Given the description of an element on the screen output the (x, y) to click on. 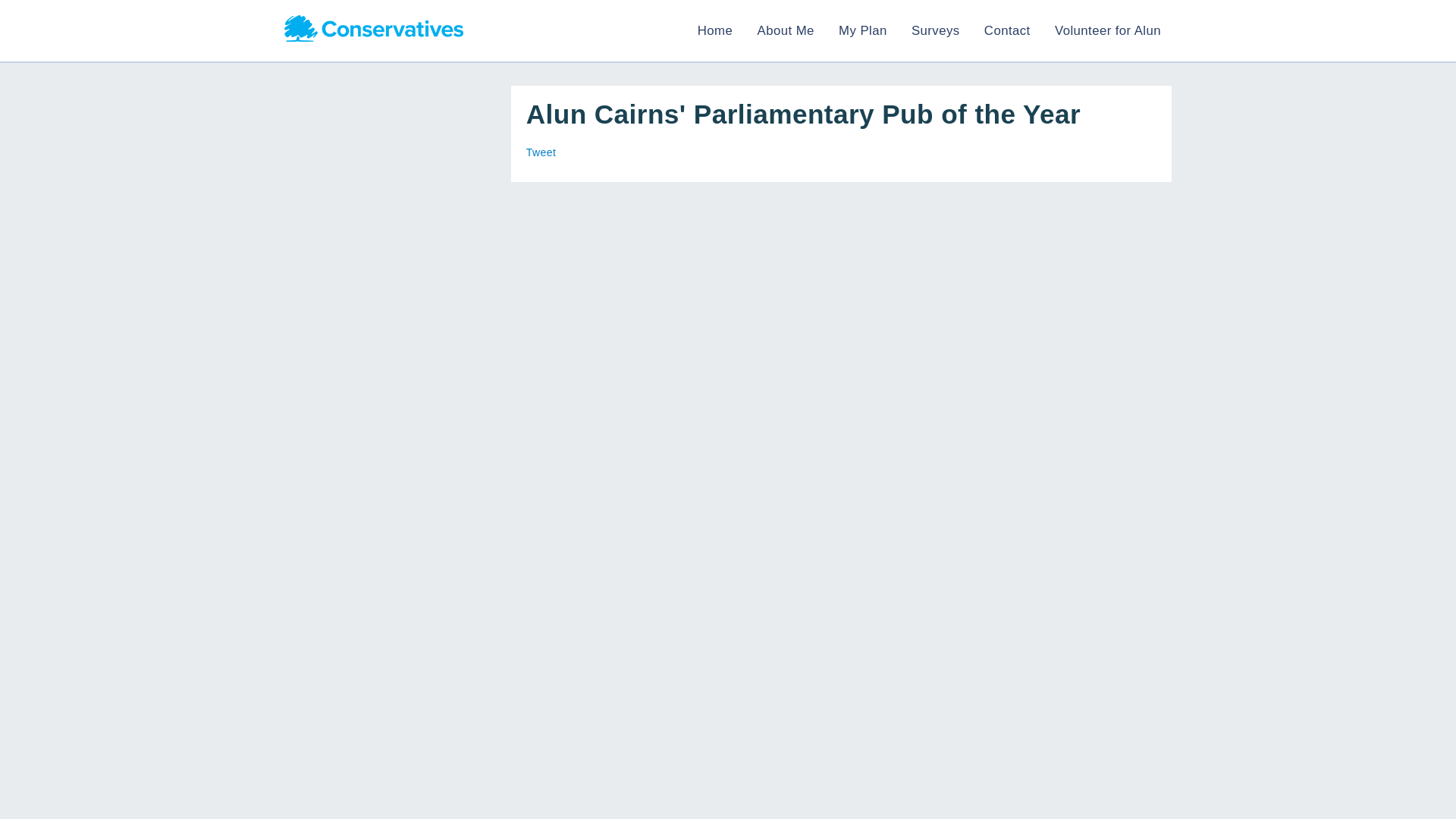
Tweet (540, 152)
Surveys (935, 30)
Contact (1007, 30)
My Plan (862, 30)
About Me (785, 30)
About Alun (785, 30)
Home (714, 30)
Volunteer for Alun (1107, 30)
